Given the description of an element on the screen output the (x, y) to click on. 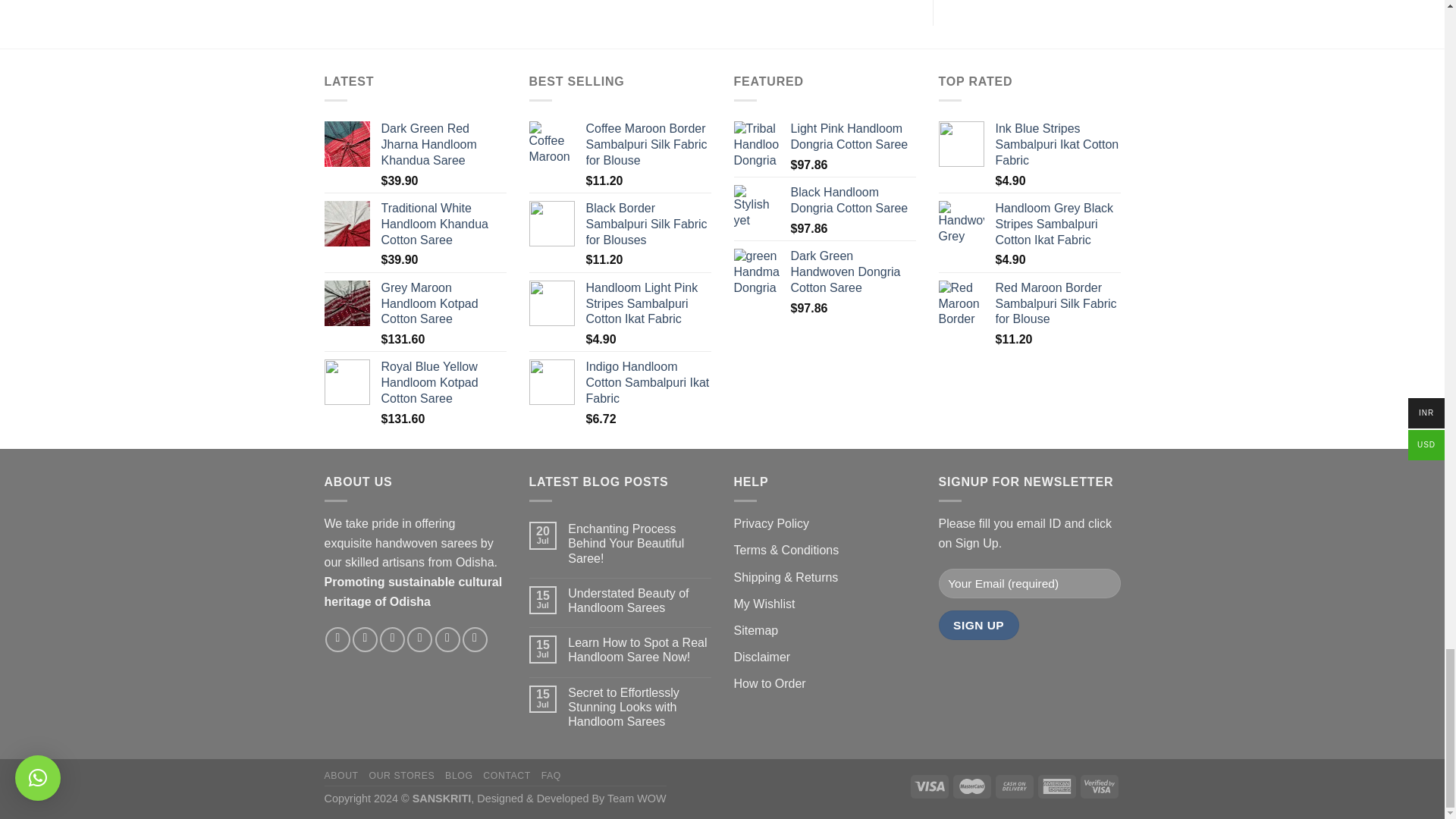
Learn How to Spot a Real Handloom Saree Now! (638, 649)
Enchanting Process Behind Your Beautiful Saree! (638, 543)
Sign Up (979, 624)
Secret to Effortlessly Stunning Looks with Handloom Sarees (638, 707)
Understated Beauty of Handloom Sarees (638, 600)
